Given the description of an element on the screen output the (x, y) to click on. 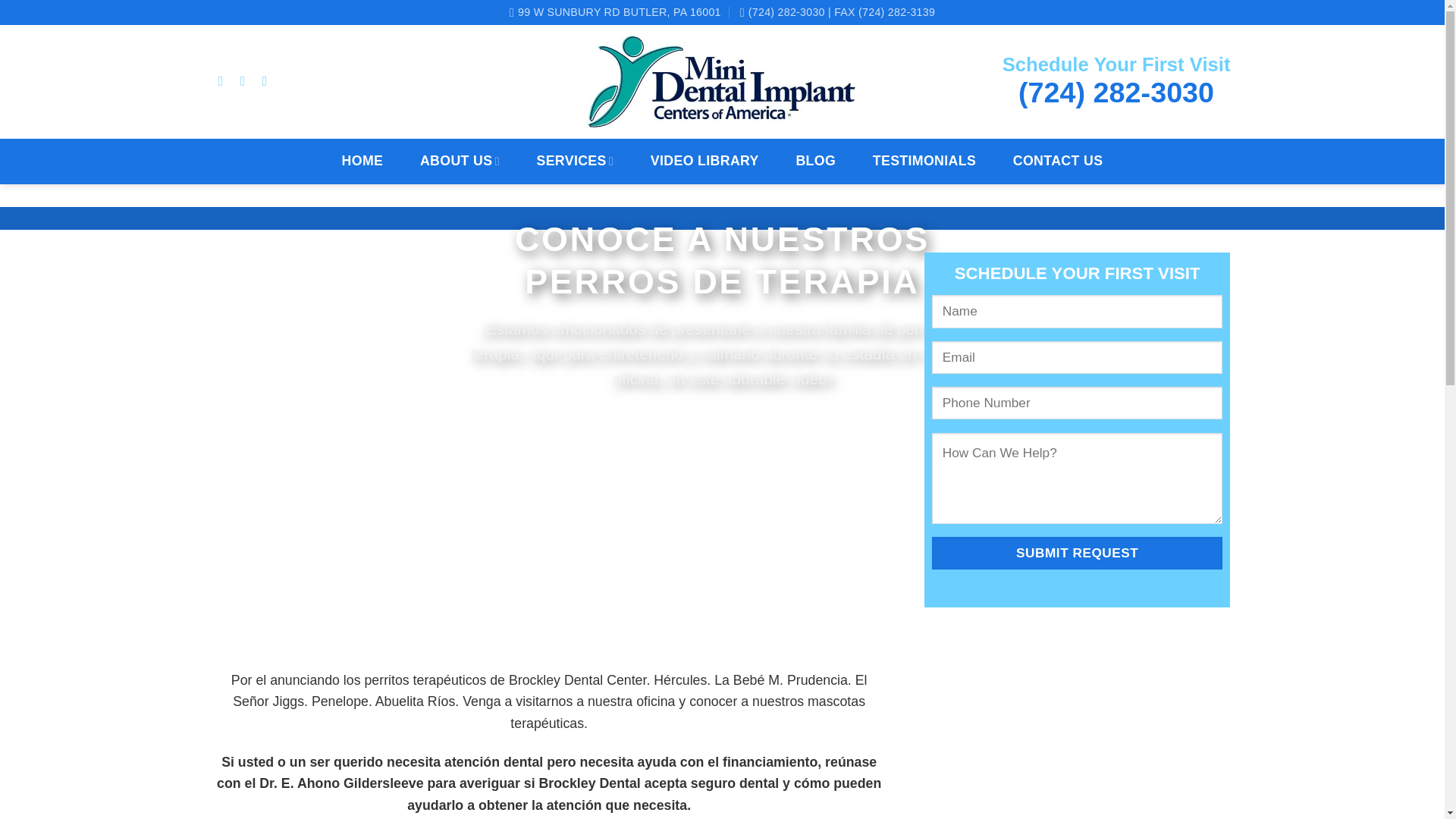
Submit Request (1077, 553)
Submit Request (1077, 553)
SERVICES (574, 161)
99 W SUNBURY RD BUTLER, PA 16001 (614, 12)
SCHEDULE YOUR FIRST VISIT (1077, 421)
Follow on Facebook (224, 80)
ABOUT US (460, 161)
CONTACT US (1057, 161)
BLOG (815, 161)
99 W Sunbury Rd Butler, PA 16001 (614, 12)
Follow on Twitter (246, 80)
HOME (362, 161)
Follow on YouTube (269, 80)
VIDEO LIBRARY (704, 161)
